Given the description of an element on the screen output the (x, y) to click on. 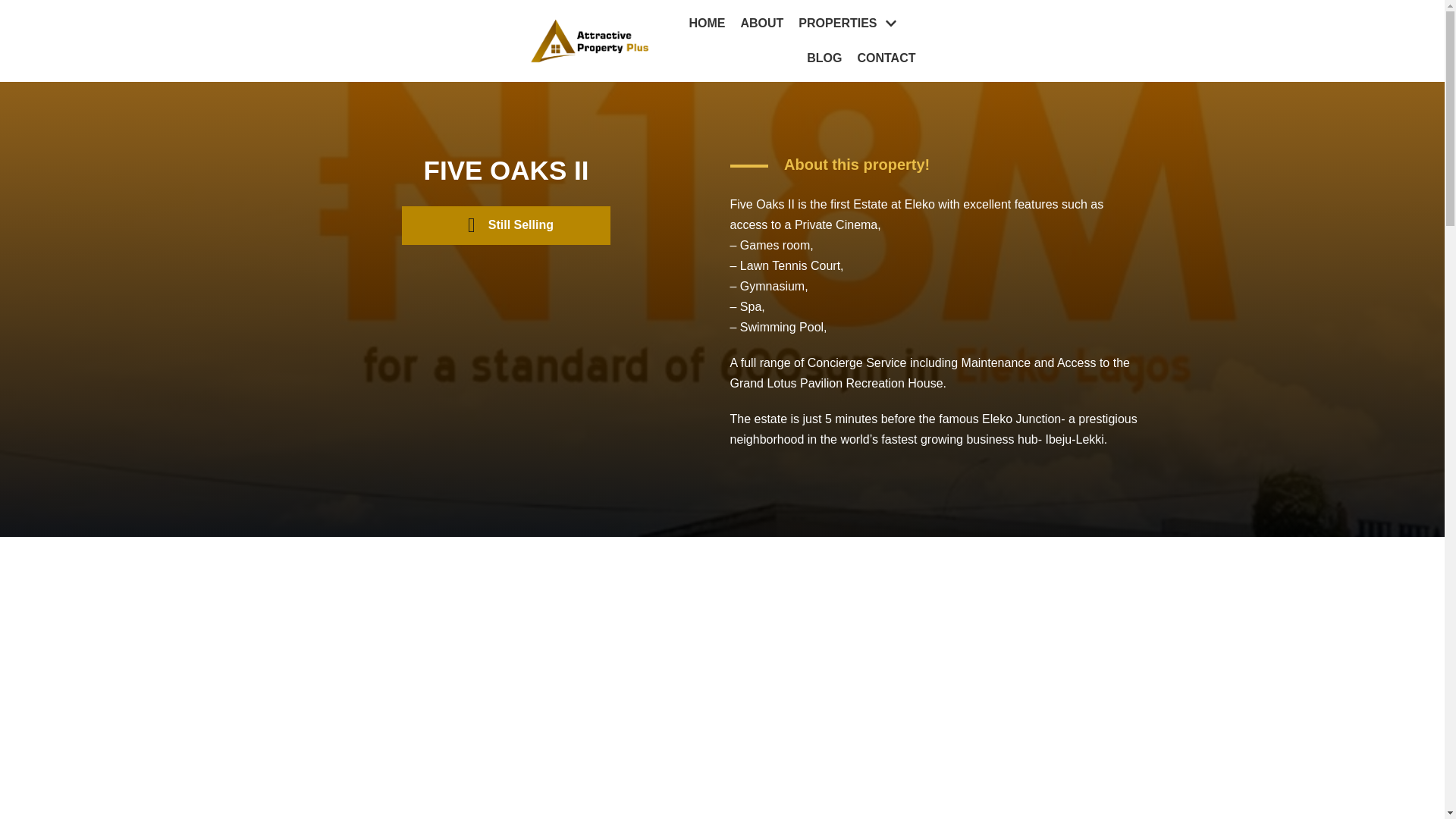
Attractive Plus Property (589, 40)
ABOUT (761, 23)
CONTACT (886, 57)
BLOG (823, 57)
PROPERTIES (848, 23)
Skip to content (15, 7)
HOME (706, 23)
